Given the description of an element on the screen output the (x, y) to click on. 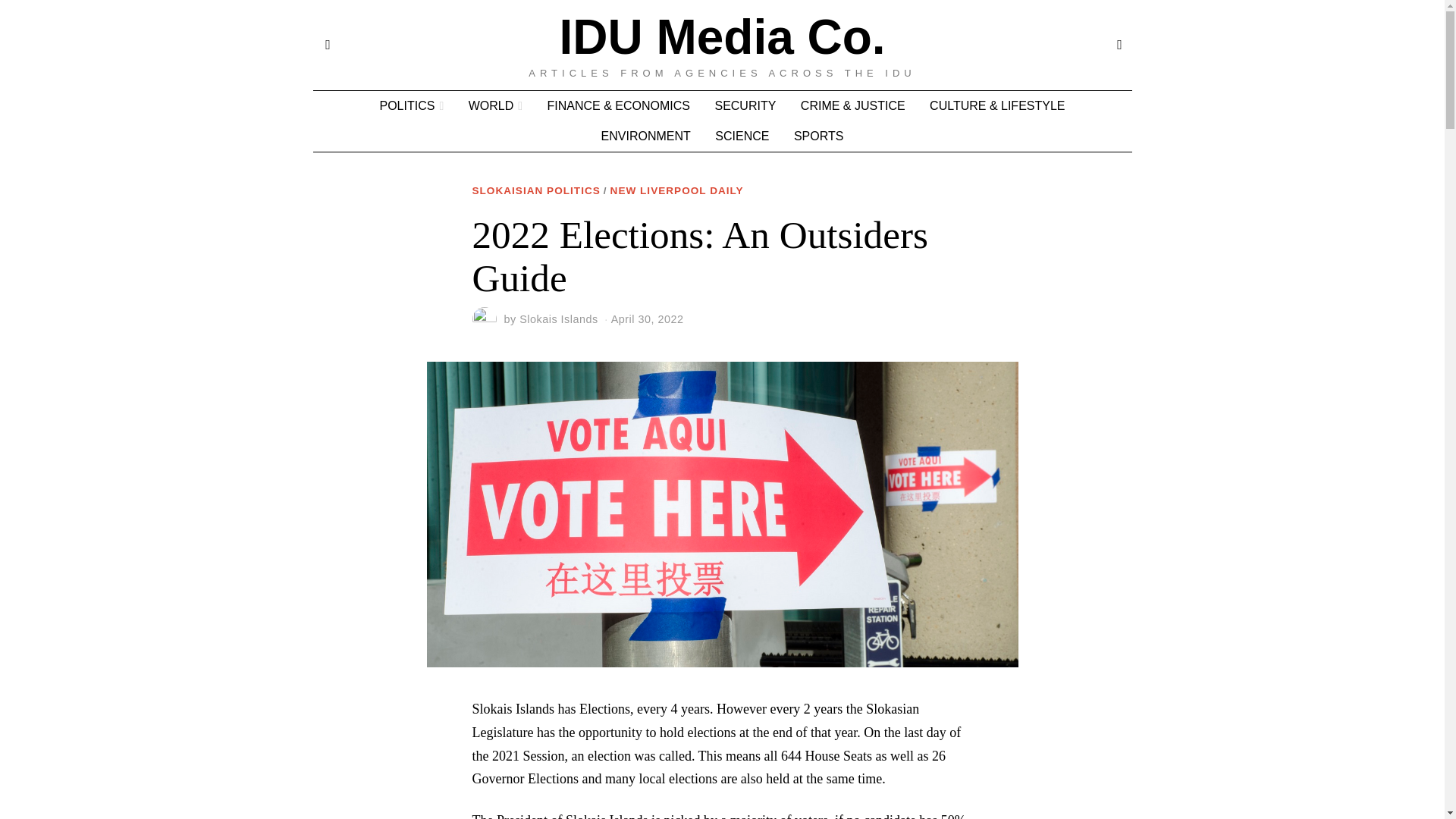
SLOKAISIAN POLITICS (535, 191)
IDU Media Co. (722, 36)
SCIENCE (741, 136)
SPORTS (818, 136)
POLITICS (411, 105)
ENVIRONMENT (646, 136)
WORLD (495, 105)
SECURITY (744, 105)
